Given the description of an element on the screen output the (x, y) to click on. 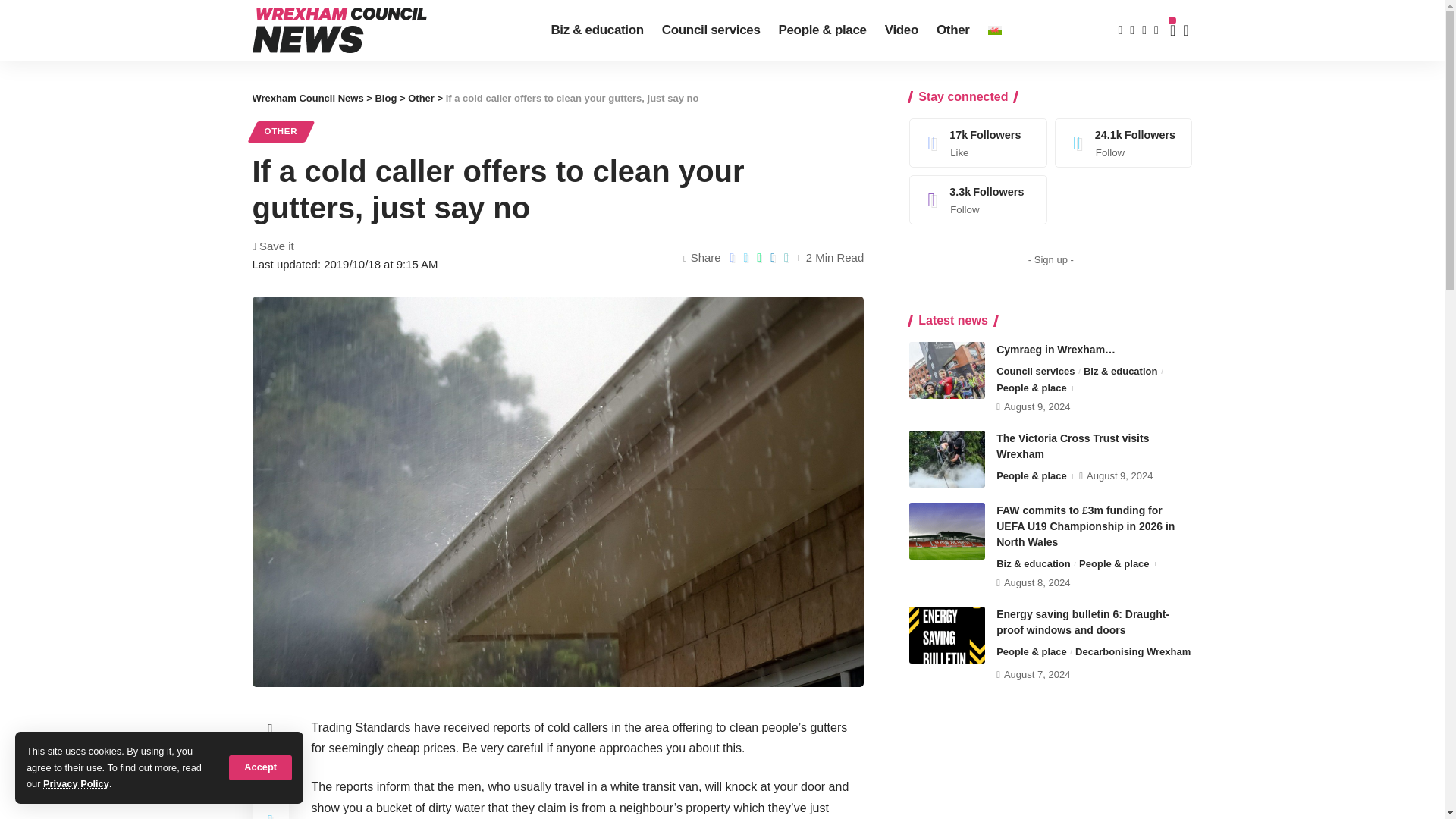
Facebook (978, 142)
Instagram (978, 199)
Twitter (1123, 142)
Accept (260, 767)
Go to the Other Category archives. (420, 98)
Go to Wrexham Council News. (306, 98)
Wrexham Council News (338, 30)
Privacy Policy (76, 783)
Go to Blog. (385, 98)
Council services (711, 30)
